Given the description of an element on the screen output the (x, y) to click on. 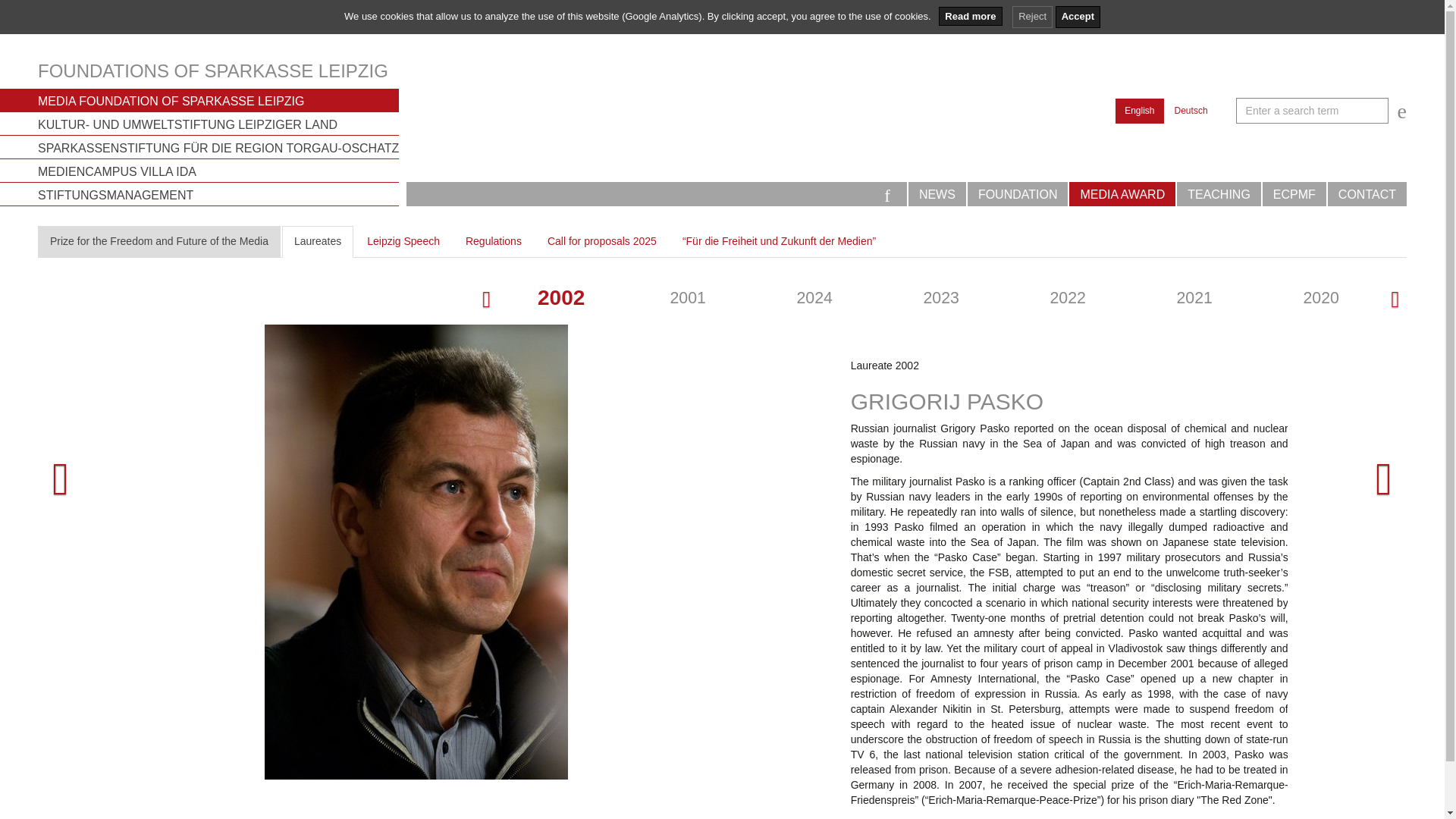
MEDIENCAMPUS VILLA IDA (217, 169)
Deutsch (1191, 110)
HOME PAGE (887, 193)
TEACHING (1218, 193)
ECPMF (1294, 193)
MEDIA AWARD (1121, 193)
Read more (970, 15)
STIFTUNGSMANAGEMENT (217, 193)
Reject (1031, 16)
Accept (1077, 16)
